Given the description of an element on the screen output the (x, y) to click on. 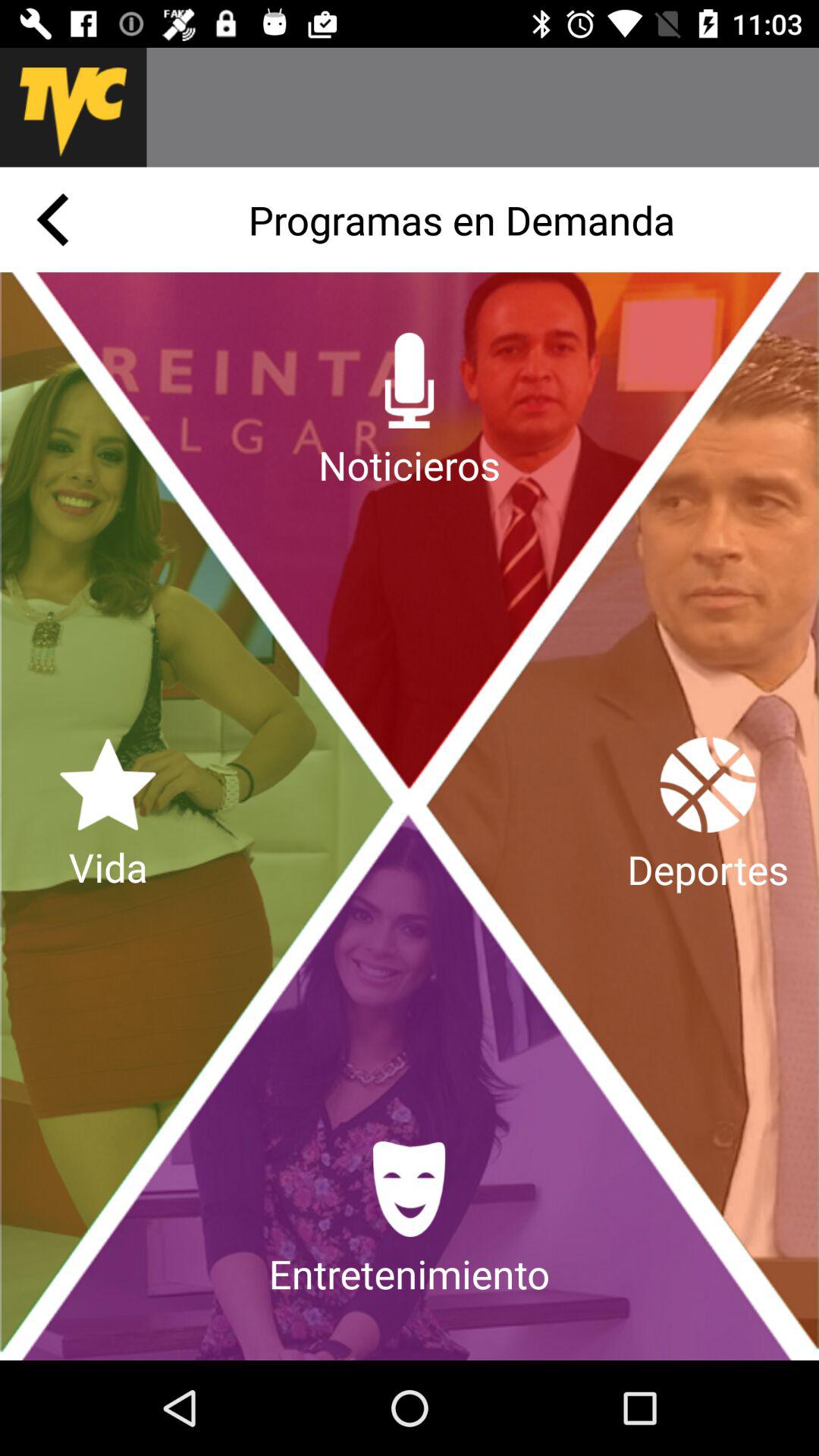
turn on the item next to vida item (708, 815)
